Given the description of an element on the screen output the (x, y) to click on. 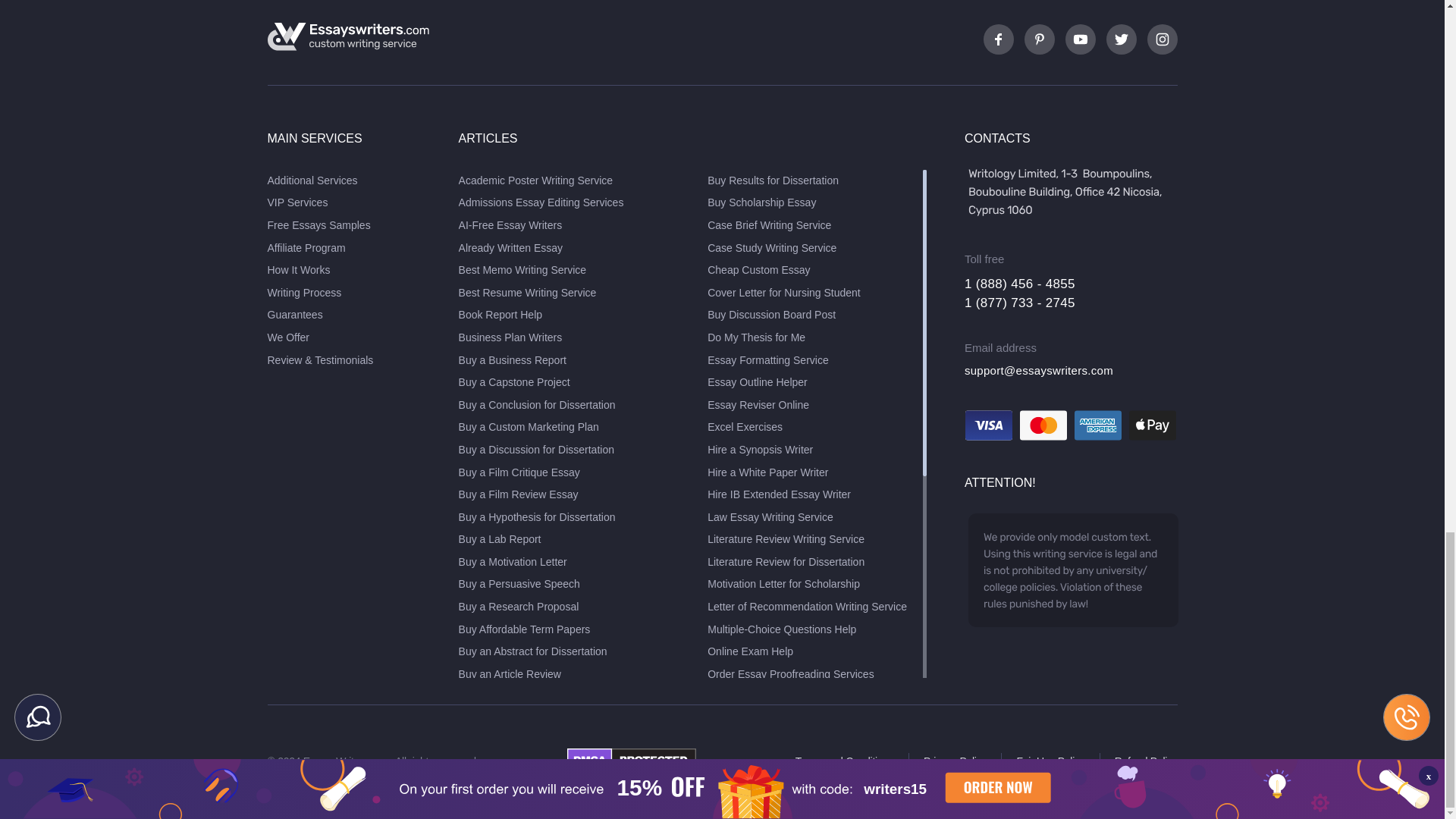
DMCA.com Protection Status (631, 766)
